Given the description of an element on the screen output the (x, y) to click on. 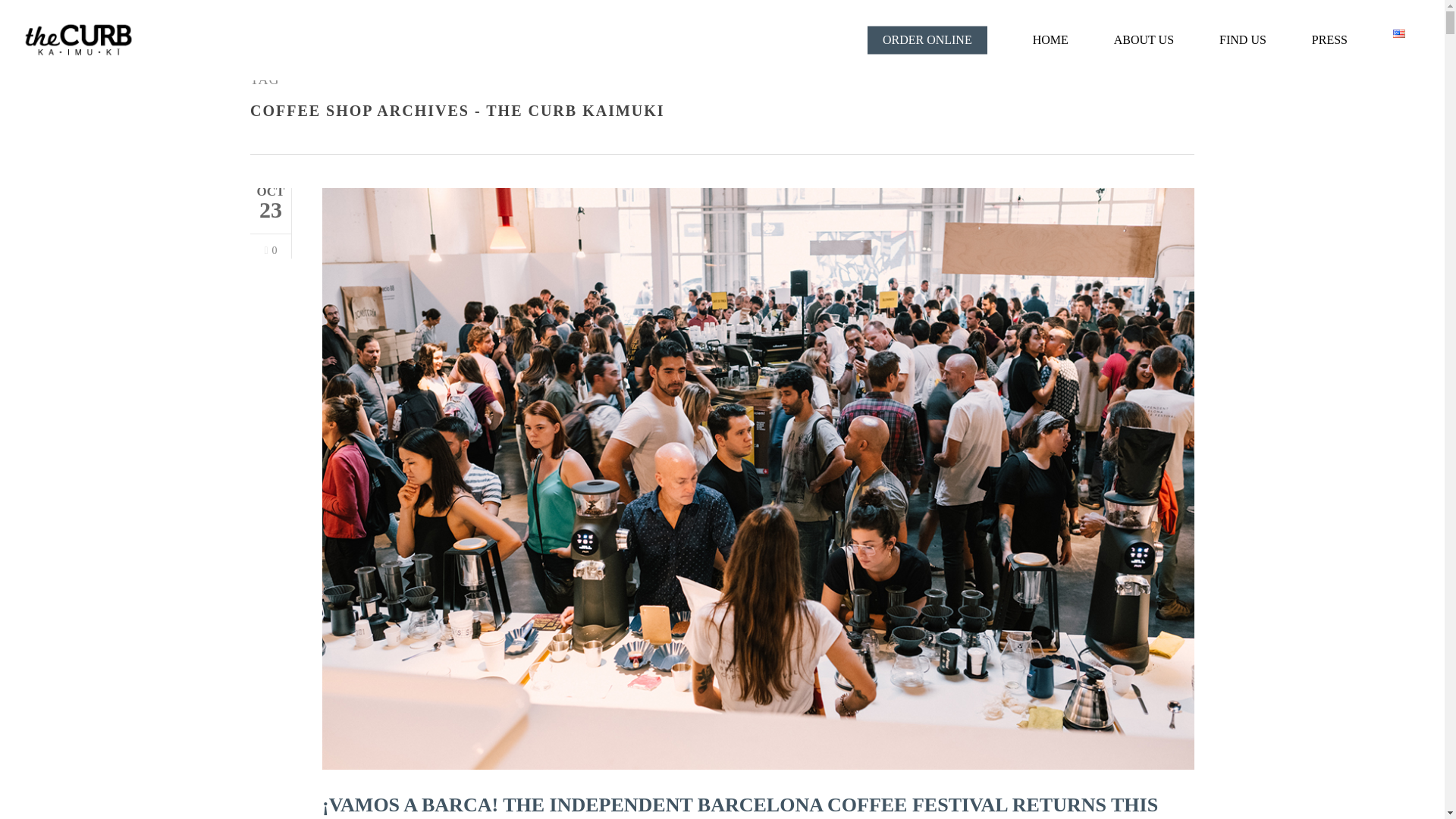
0 (269, 251)
Love this (269, 251)
English (1399, 33)
HOME (1050, 40)
ORDER ONLINE (927, 40)
FIND US (1243, 40)
PRESS (1329, 40)
ABOUT US (1143, 40)
